Given the description of an element on the screen output the (x, y) to click on. 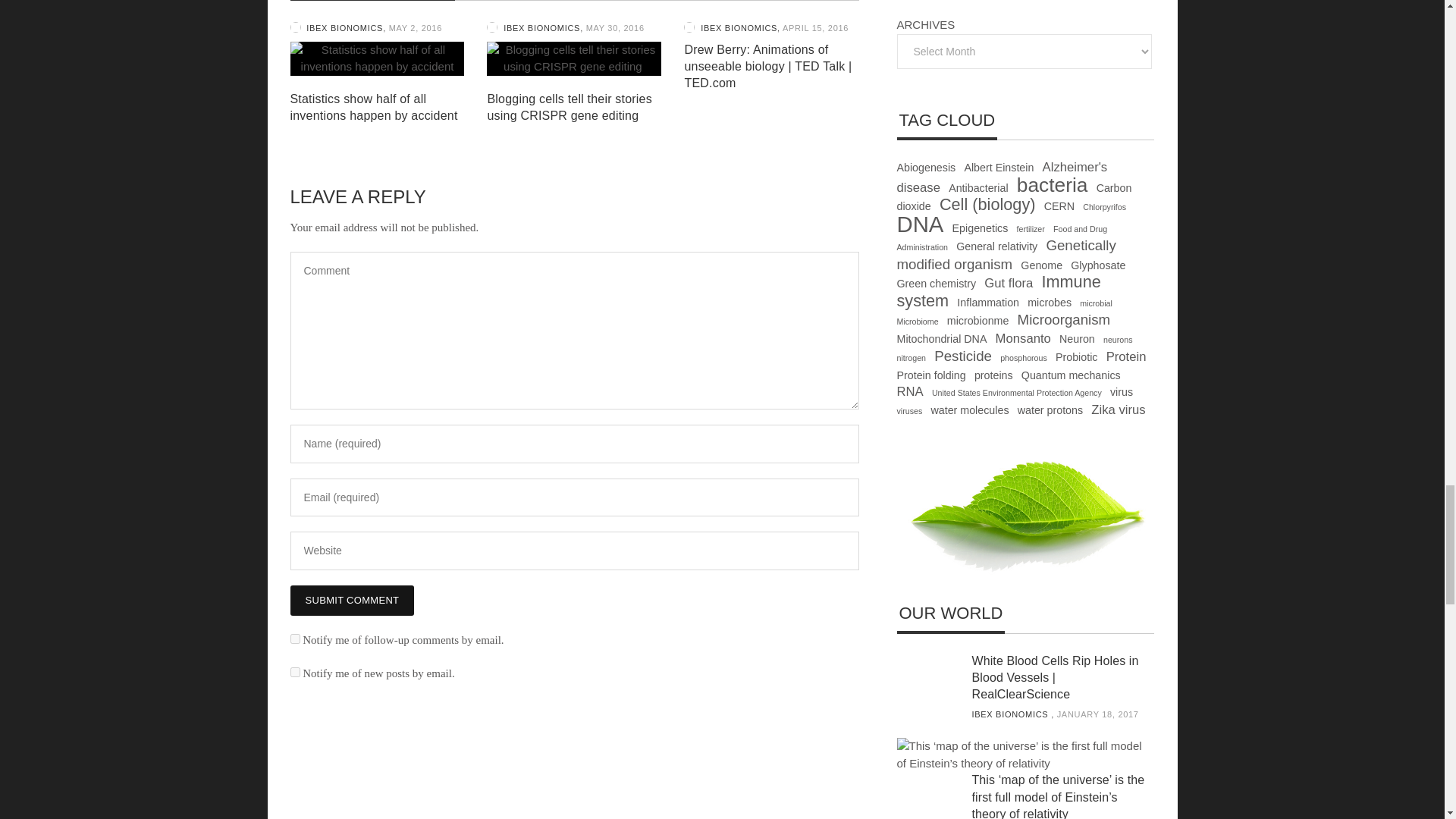
subscribe (294, 638)
Submit Comment (351, 600)
subscribe (294, 672)
